Given the description of an element on the screen output the (x, y) to click on. 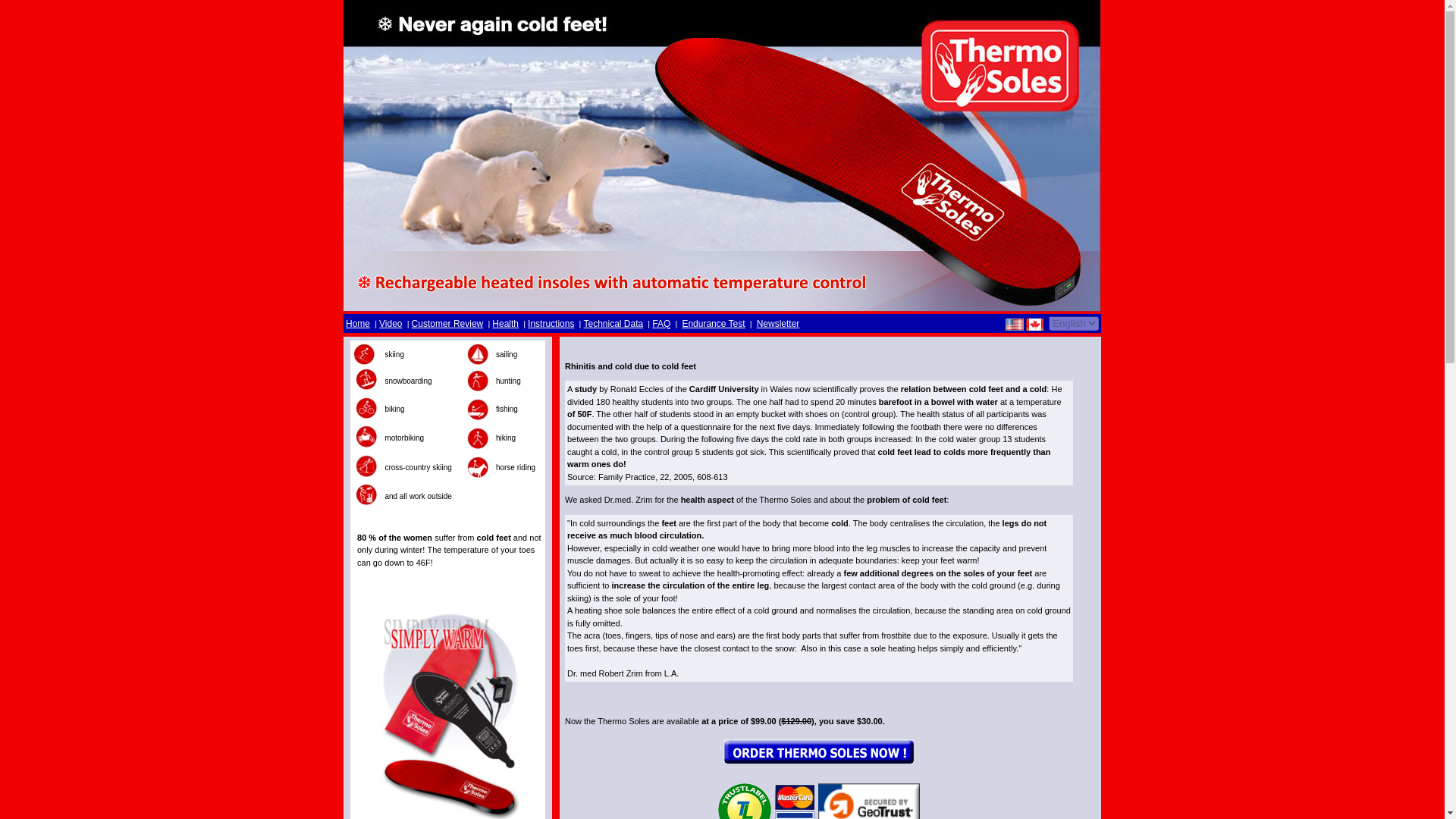
Home (357, 323)
 French  (1034, 324)
Customer Review (447, 323)
Health (505, 323)
Instructions (550, 323)
Newsletter (778, 323)
Endurance Test (712, 323)
Technical Data (613, 323)
 English  (1014, 324)
Video (389, 323)
